Given the description of an element on the screen output the (x, y) to click on. 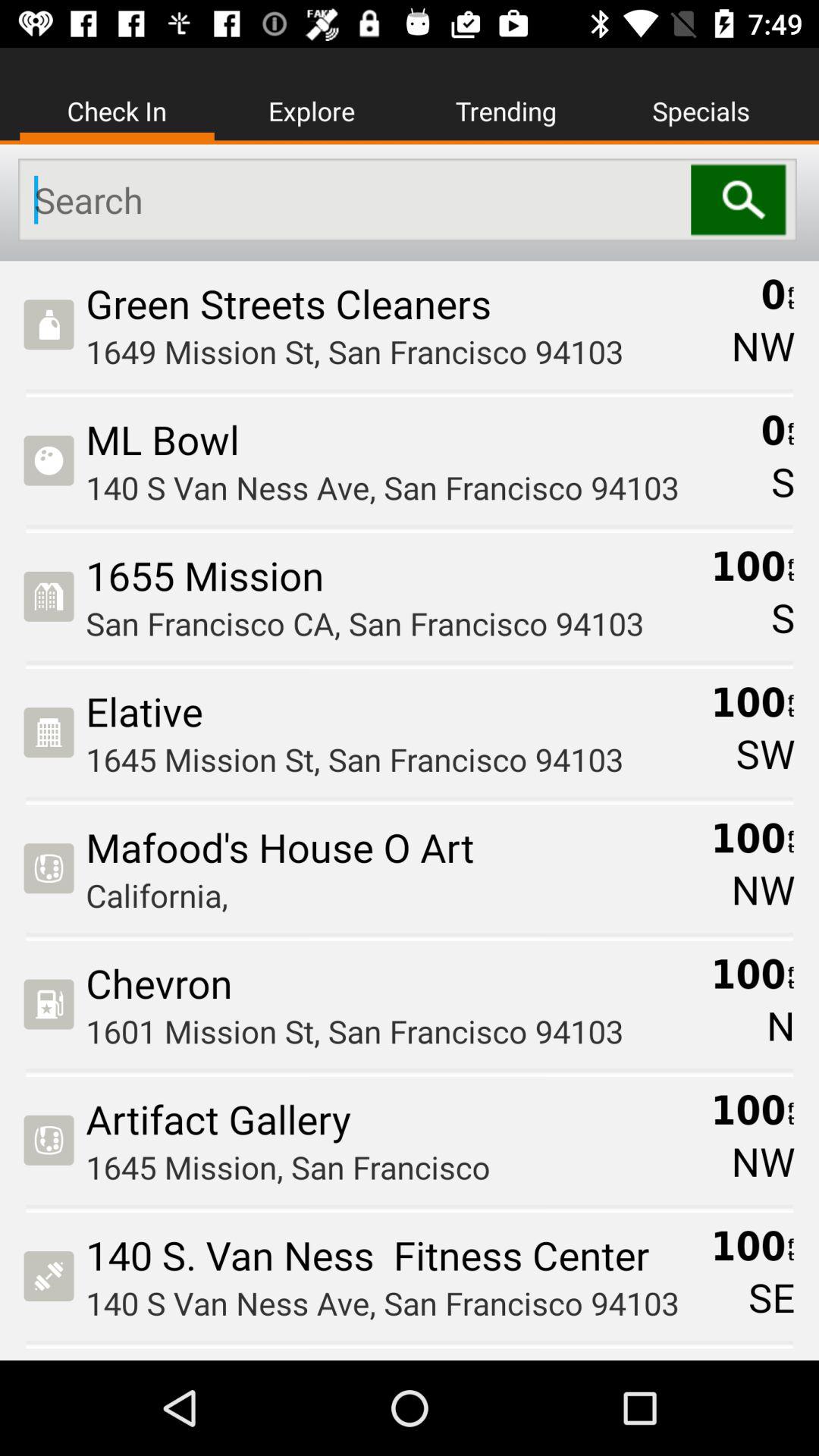
choose item next to the 140 s van icon (771, 1296)
